Given the description of an element on the screen output the (x, y) to click on. 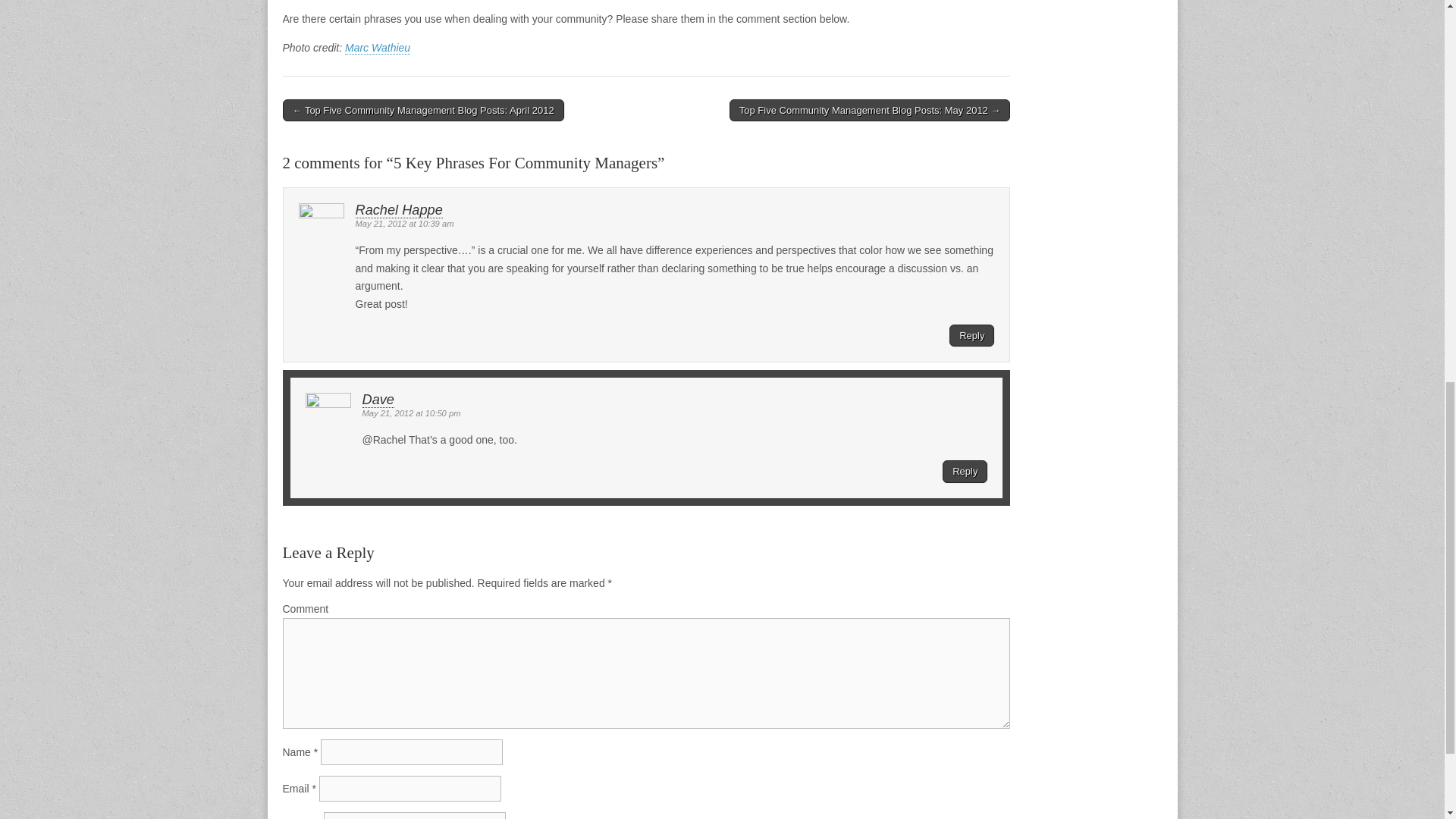
Reply (964, 471)
Reply (971, 335)
Dave (378, 399)
Marc Wathieu (377, 47)
Rachel Happe (398, 210)
